Given the description of an element on the screen output the (x, y) to click on. 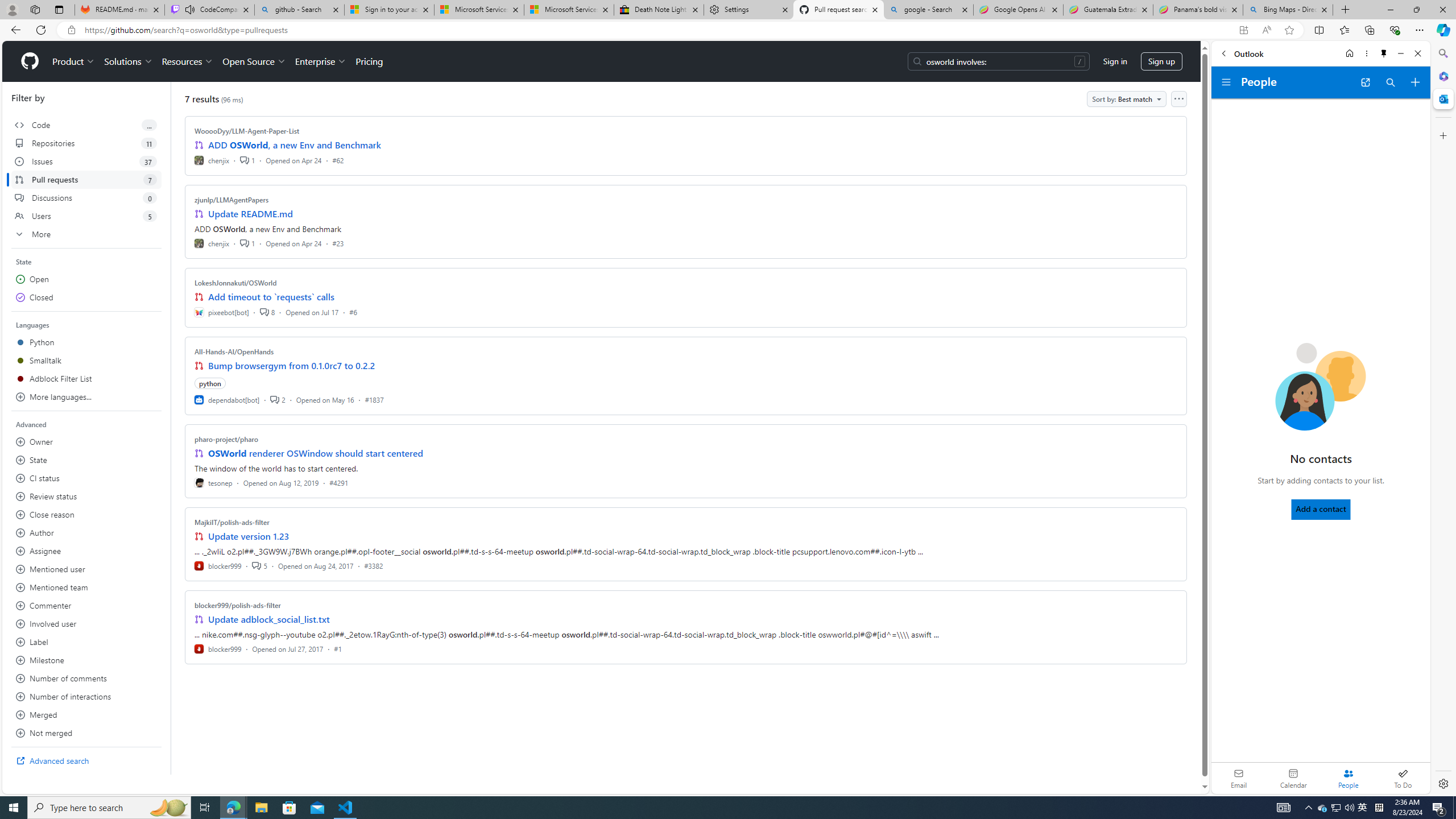
Email (1238, 777)
Enterprise (319, 60)
Enterprise (319, 60)
More languages... (86, 397)
Mute tab (189, 8)
